Given the description of an element on the screen output the (x, y) to click on. 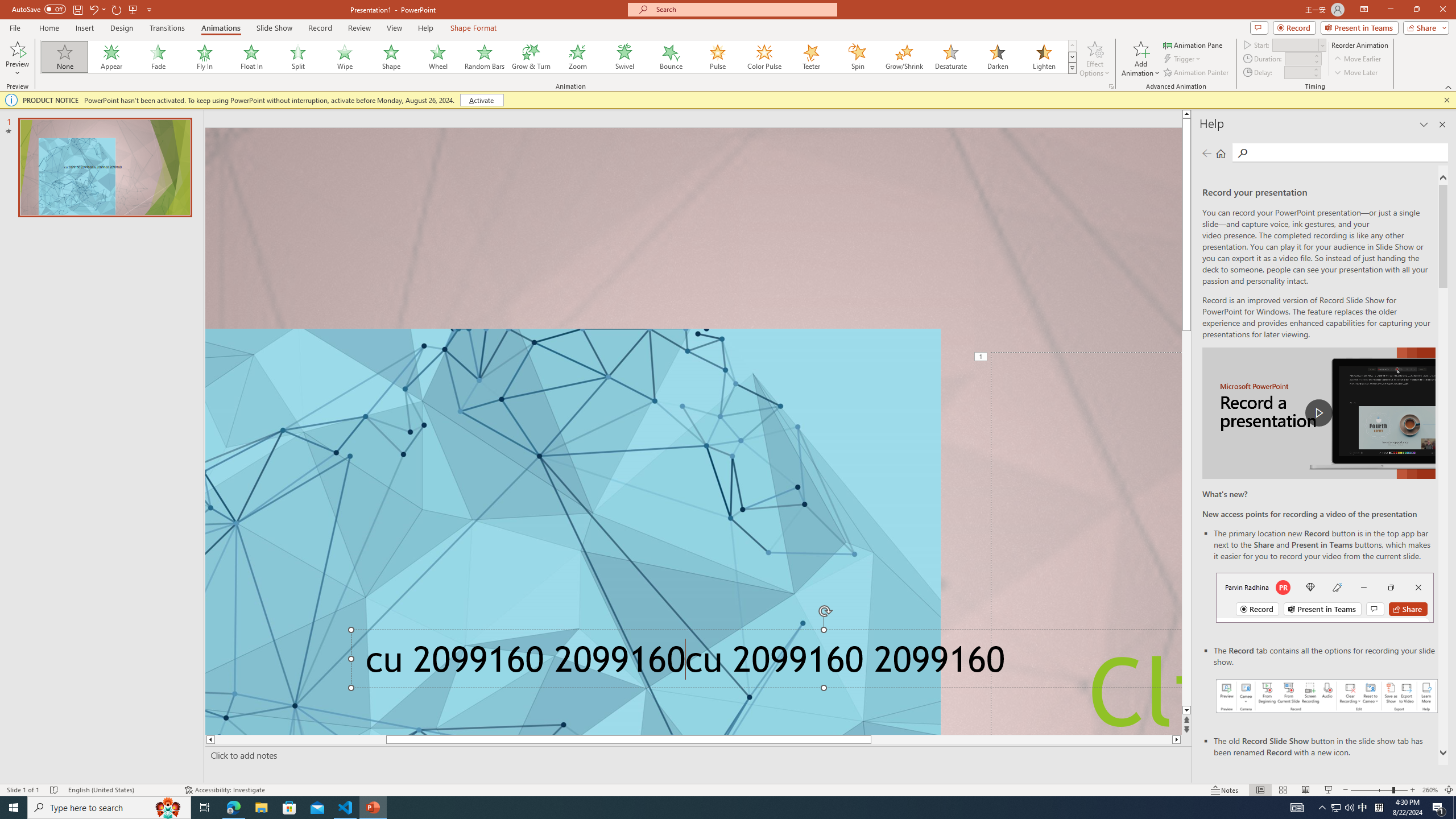
Add Animation (1141, 58)
Animation Painter (1196, 72)
Animation Styles (1071, 67)
Float In (251, 56)
More (1315, 69)
